Given the description of an element on the screen output the (x, y) to click on. 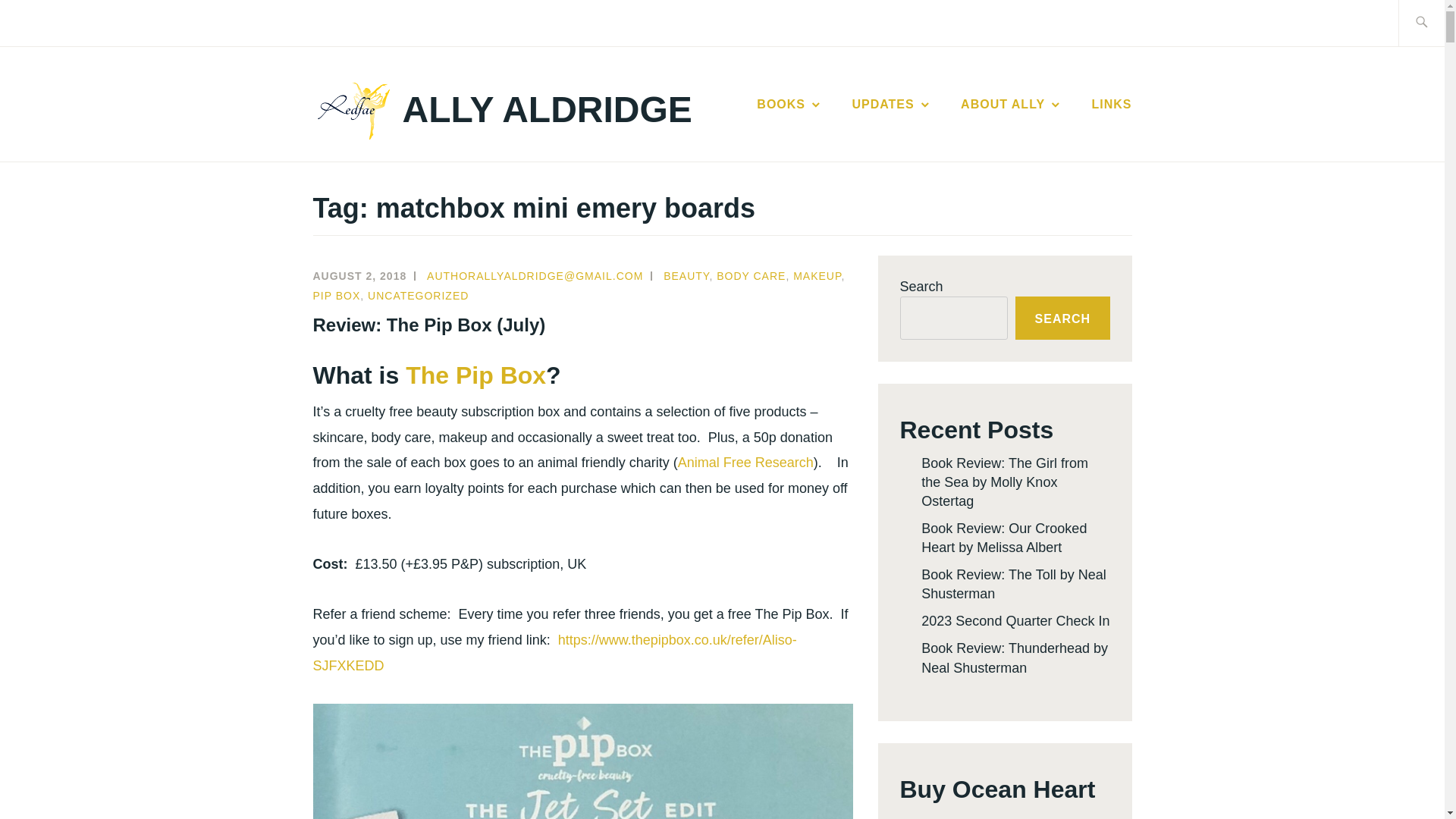
LINKS (1112, 104)
The Pip Box (476, 375)
Animal Free Research (745, 462)
BODY CARE (751, 275)
BEAUTY (686, 275)
UNCATEGORIZED (418, 295)
BOOKS (789, 104)
Search (47, 22)
MAKEUP (817, 275)
ALLY ALDRIDGE (548, 109)
ABOUT ALLY (1011, 104)
PIP BOX (336, 295)
AUGUST 2, 2018 (359, 275)
UPDATES (891, 104)
